Given the description of an element on the screen output the (x, y) to click on. 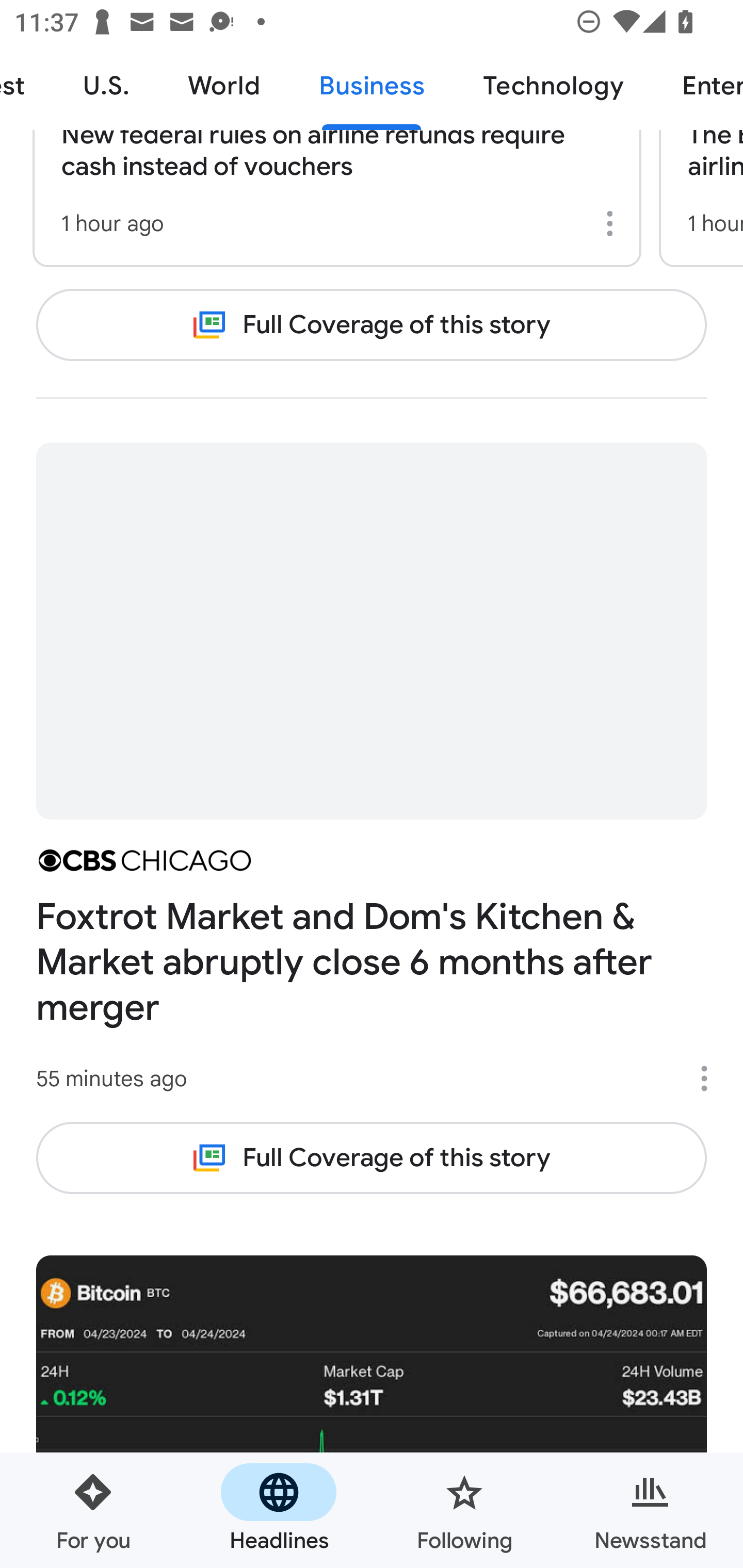
U.S. (106, 86)
World (224, 86)
Technology (552, 86)
Entertainment (697, 86)
More options (613, 223)
Full Coverage of this story (371, 324)
More options (711, 1078)
Full Coverage of this story (371, 1157)
For you (92, 1509)
Headlines (278, 1509)
Following (464, 1509)
Newsstand (650, 1509)
